Given the description of an element on the screen output the (x, y) to click on. 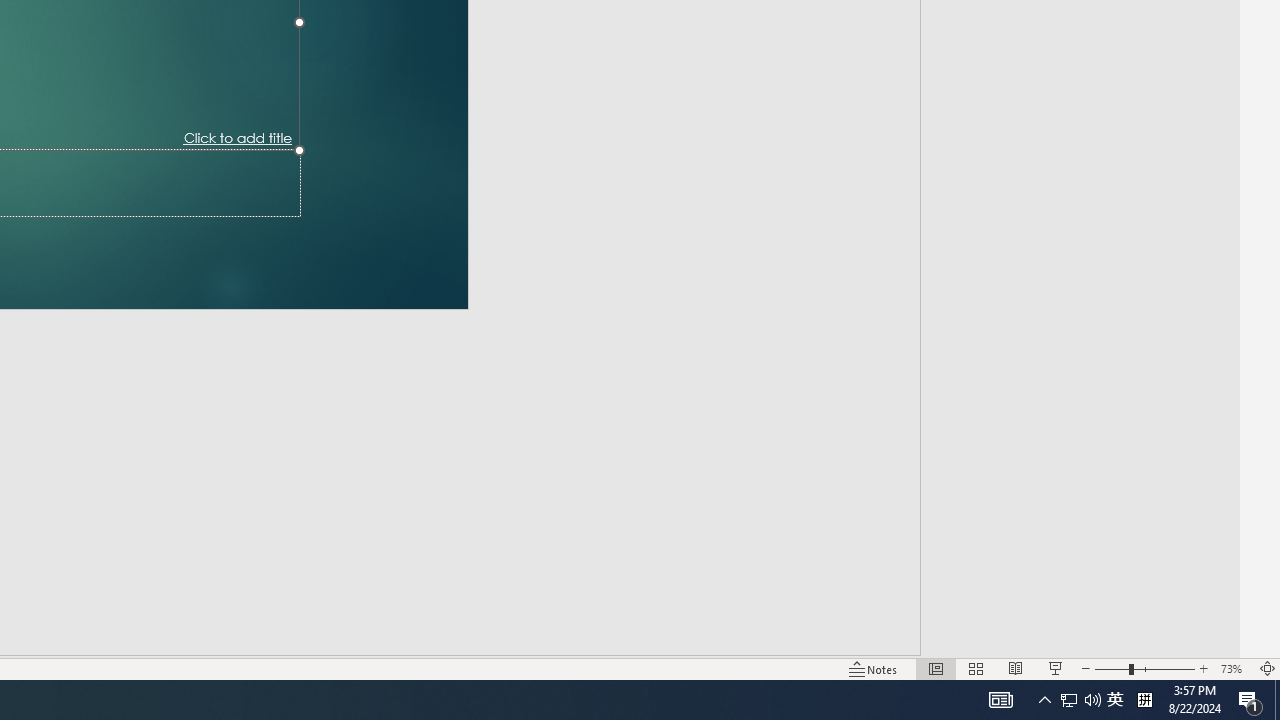
Zoom 73% (1234, 668)
